Given the description of an element on the screen output the (x, y) to click on. 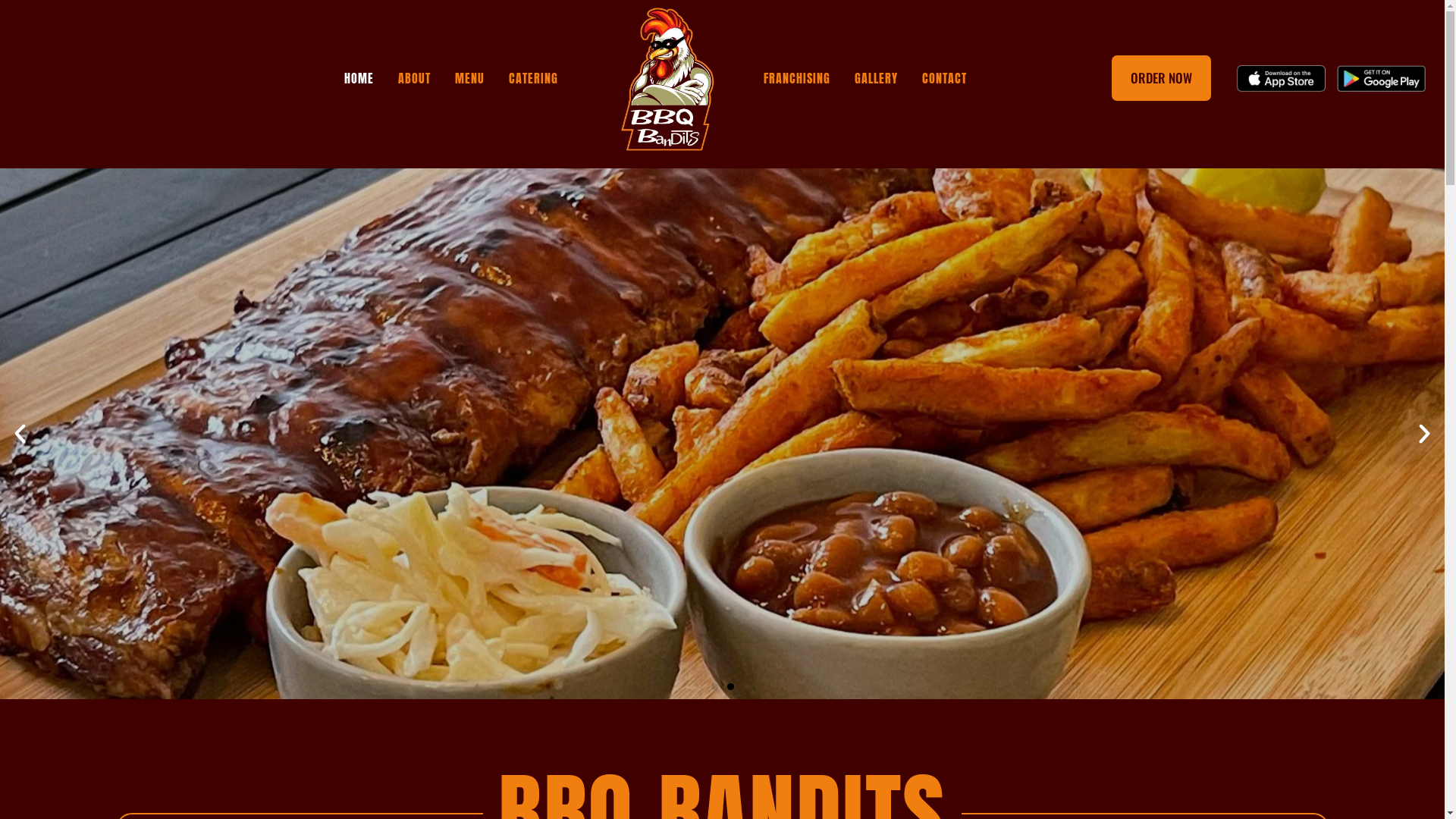
CONTACT Element type: text (944, 78)
GALLERY Element type: text (876, 78)
ORDER NOW Element type: text (1161, 77)
HOME Element type: text (358, 78)
ABOUT Element type: text (413, 78)
FRANCHISING Element type: text (796, 78)
CATERING Element type: text (533, 78)
MENU Element type: text (469, 78)
